Given the description of an element on the screen output the (x, y) to click on. 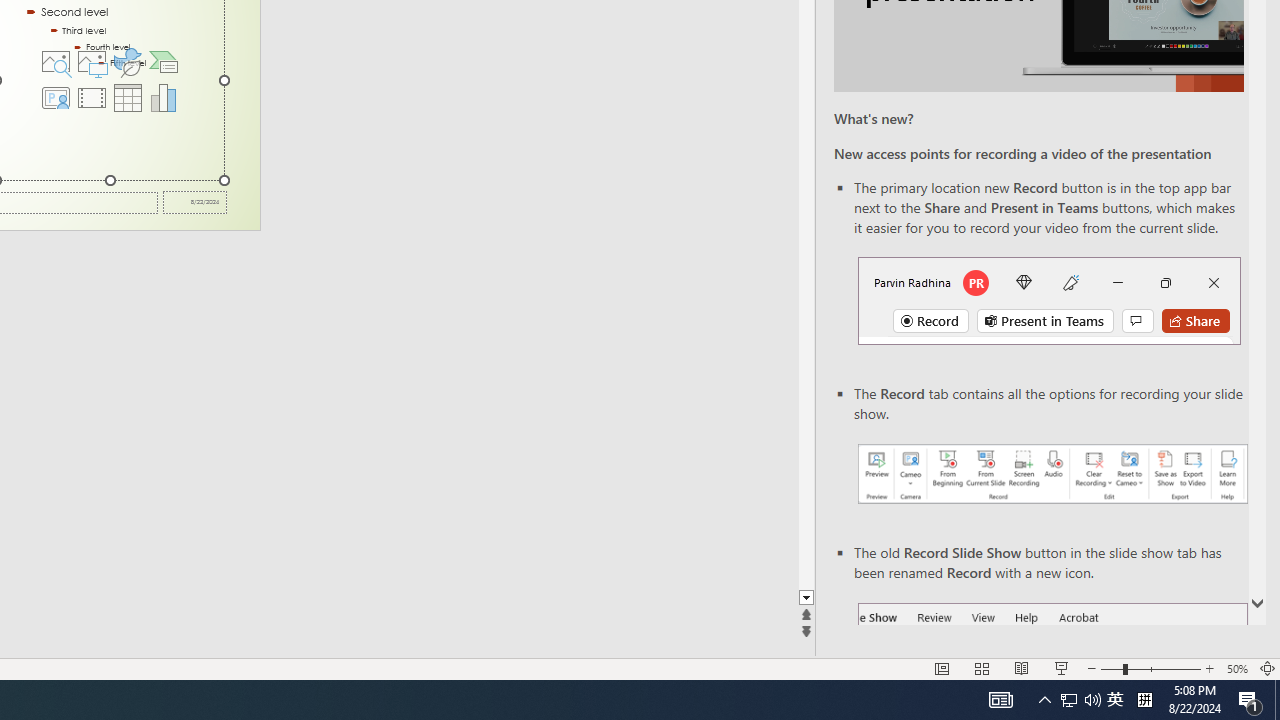
Insert Video (91, 97)
Insert Table (127, 97)
Date (194, 201)
Zoom 50% (1236, 668)
Insert an Icon (127, 61)
Pictures (91, 61)
